Given the description of an element on the screen output the (x, y) to click on. 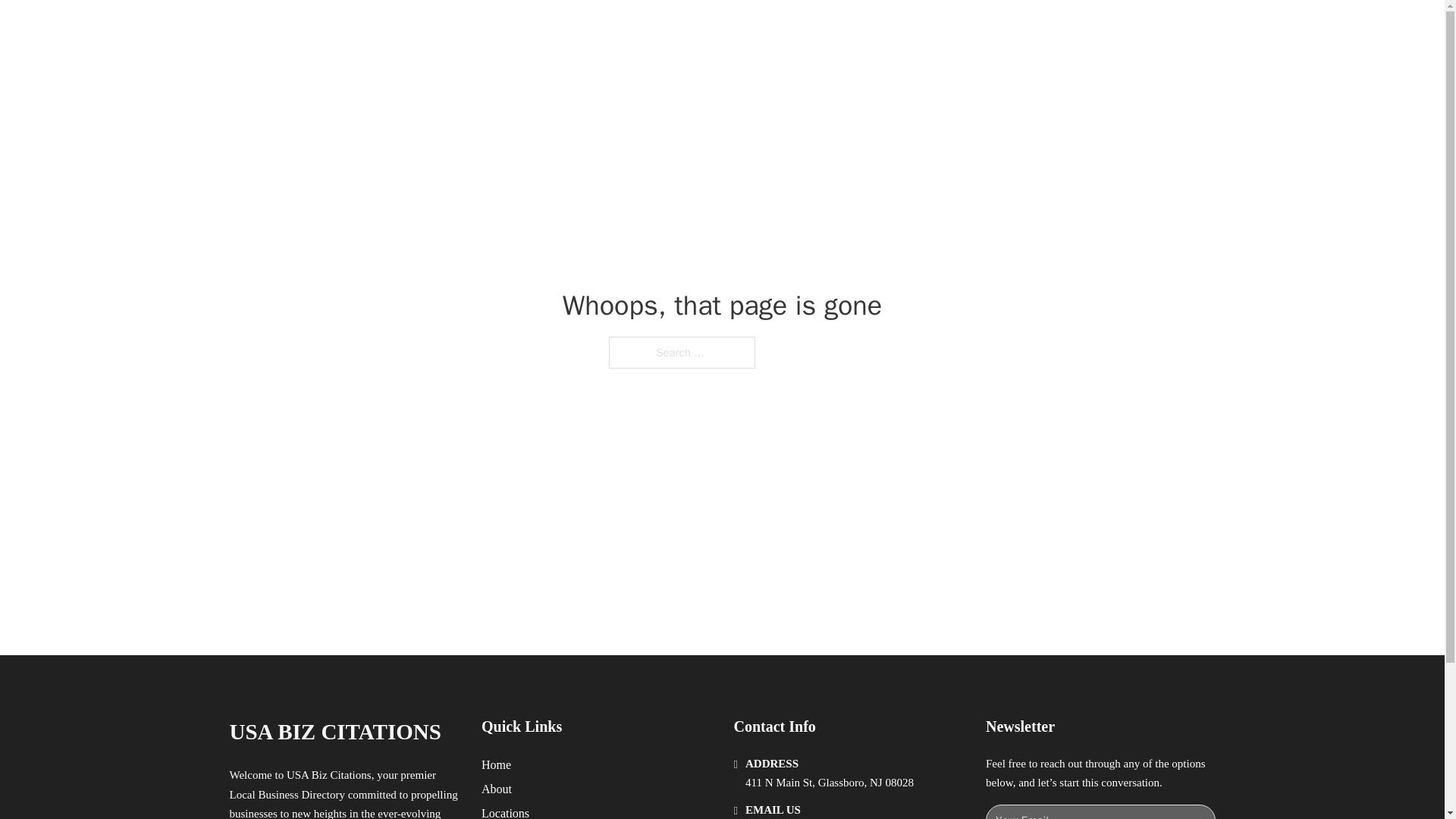
About (496, 788)
Home (496, 764)
HOME (919, 29)
USA BIZ CITATIONS (334, 732)
USA BIZ CITATIONS (406, 28)
LOCATIONS (990, 29)
Locations (505, 811)
